Given the description of an element on the screen output the (x, y) to click on. 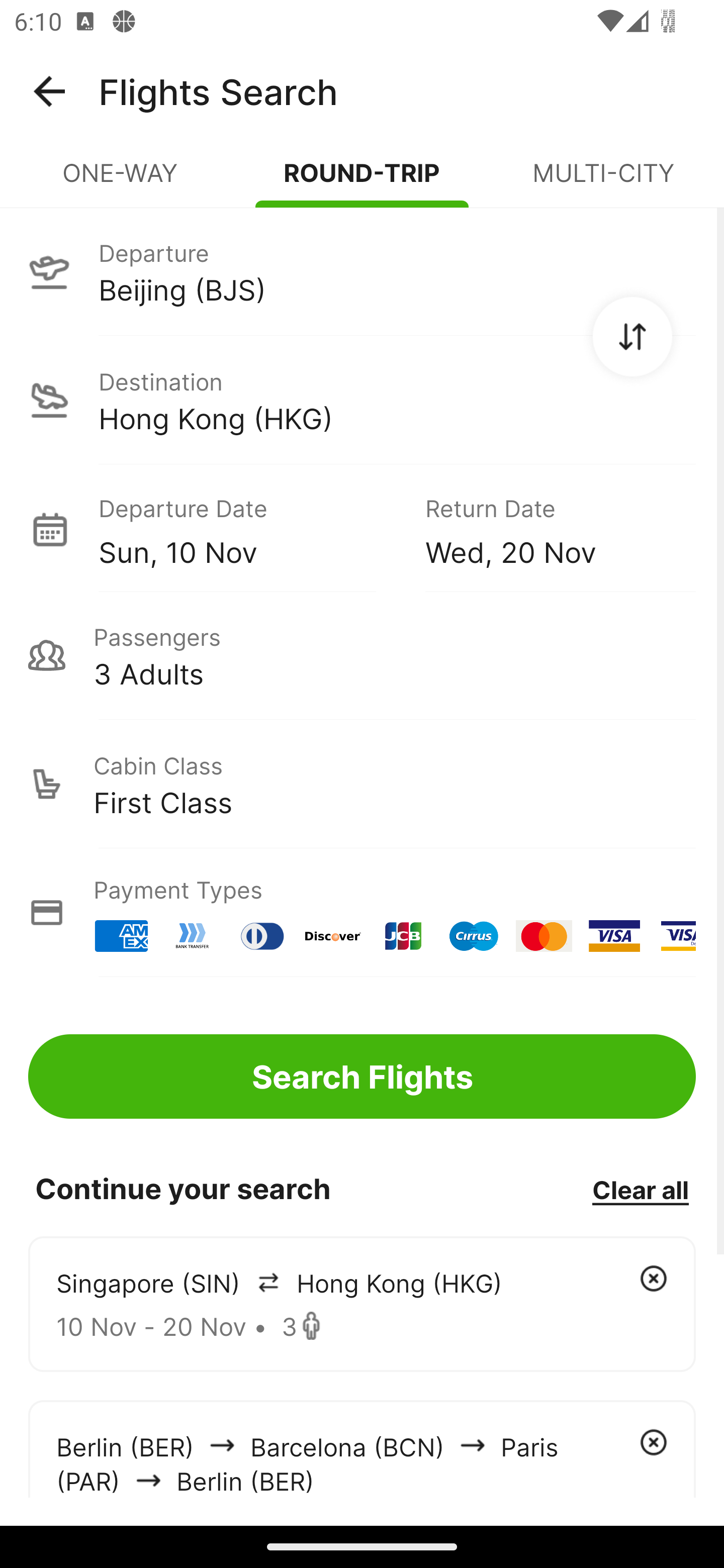
ONE-WAY (120, 180)
ROUND-TRIP (361, 180)
MULTI-CITY (603, 180)
Departure Beijing (BJS) (362, 270)
Destination Hong Kong (HKG) (362, 400)
Departure Date Sun, 10 Nov (247, 528)
Return Date Wed, 20 Nov (546, 528)
Passengers 3 Adults (362, 655)
Cabin Class First Class (362, 783)
Payment Types (362, 912)
Search Flights (361, 1075)
Clear all (640, 1189)
